Given the description of an element on the screen output the (x, y) to click on. 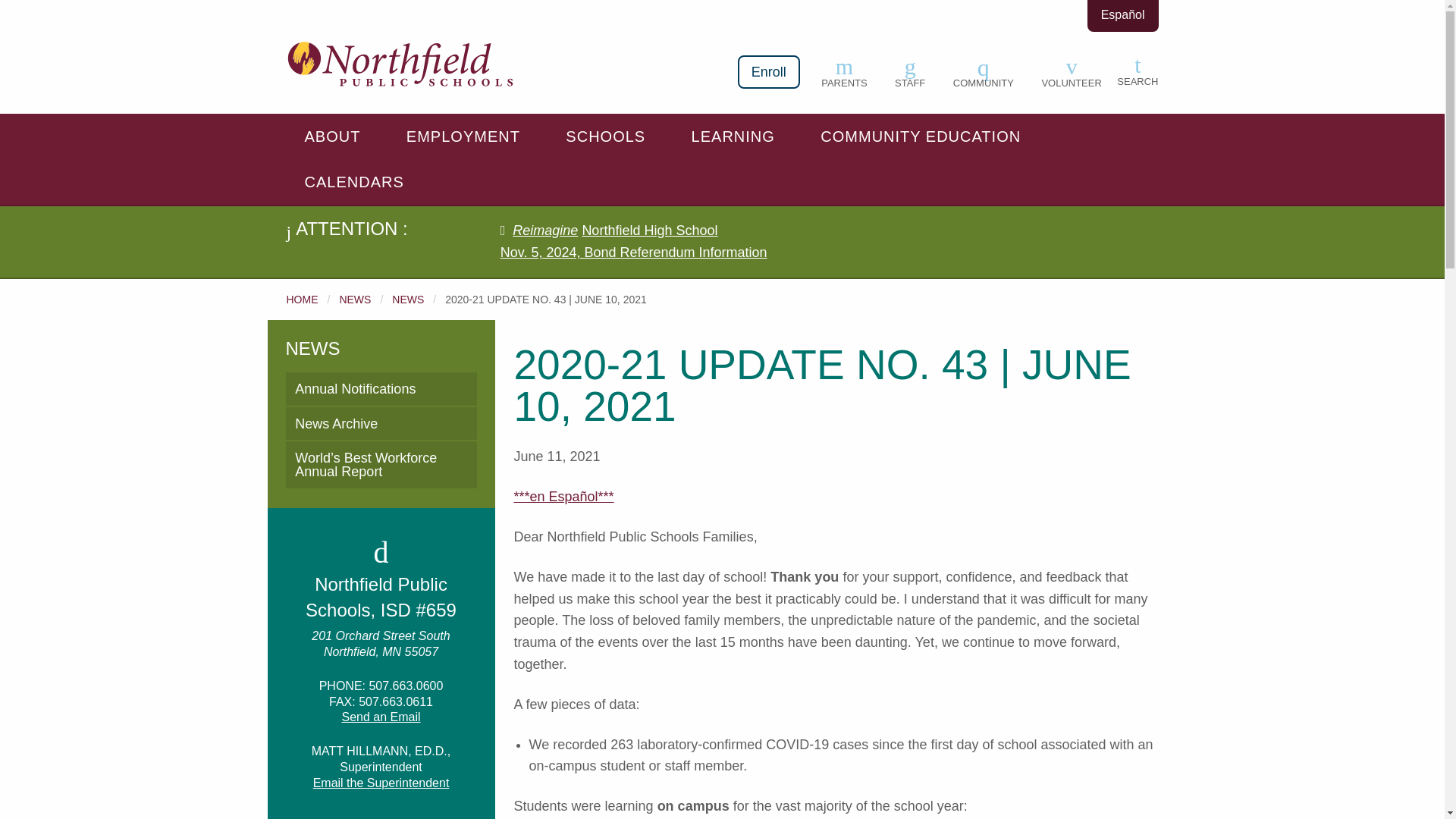
STAFF (909, 71)
COMMUNITY (983, 71)
LEARNING (735, 135)
EMPLOYMENT (466, 135)
VOLUNTEER (1071, 71)
SEARCH (1136, 70)
SCHOOLS (608, 135)
Enroll (768, 70)
ABOUT (335, 135)
PARENTS (844, 71)
